Given the description of an element on the screen output the (x, y) to click on. 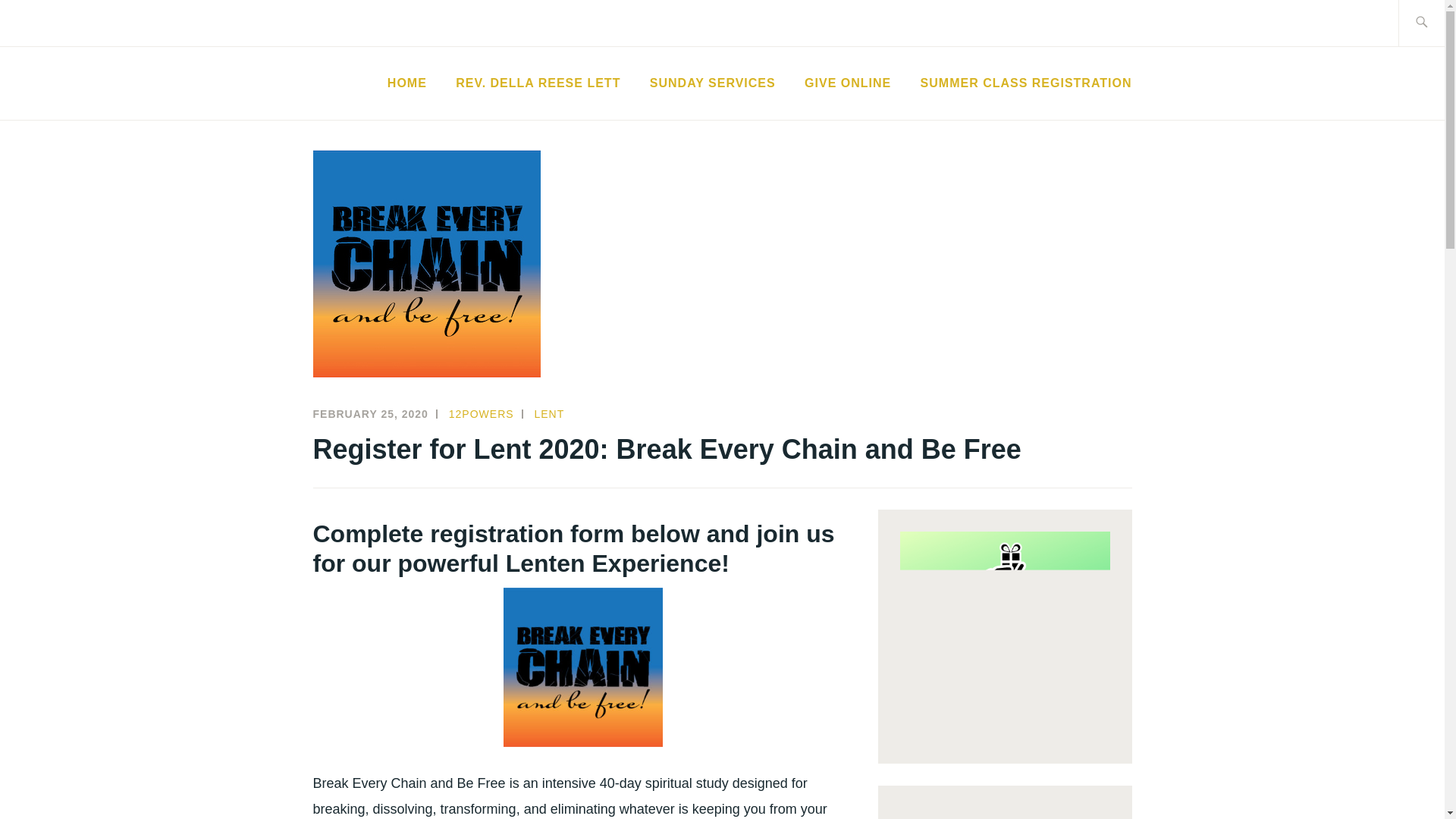
12POWERS (480, 413)
FEBRUARY 25, 2020 (370, 413)
Search (47, 22)
SUMMER CLASS REGISTRATION (1026, 83)
SUNDAY SERVICES (712, 83)
LENT (549, 413)
HOME (406, 83)
REV. DELLA REESE LETT (537, 83)
GIVE ONLINE (848, 83)
UP CHURCH (421, 108)
